Given the description of an element on the screen output the (x, y) to click on. 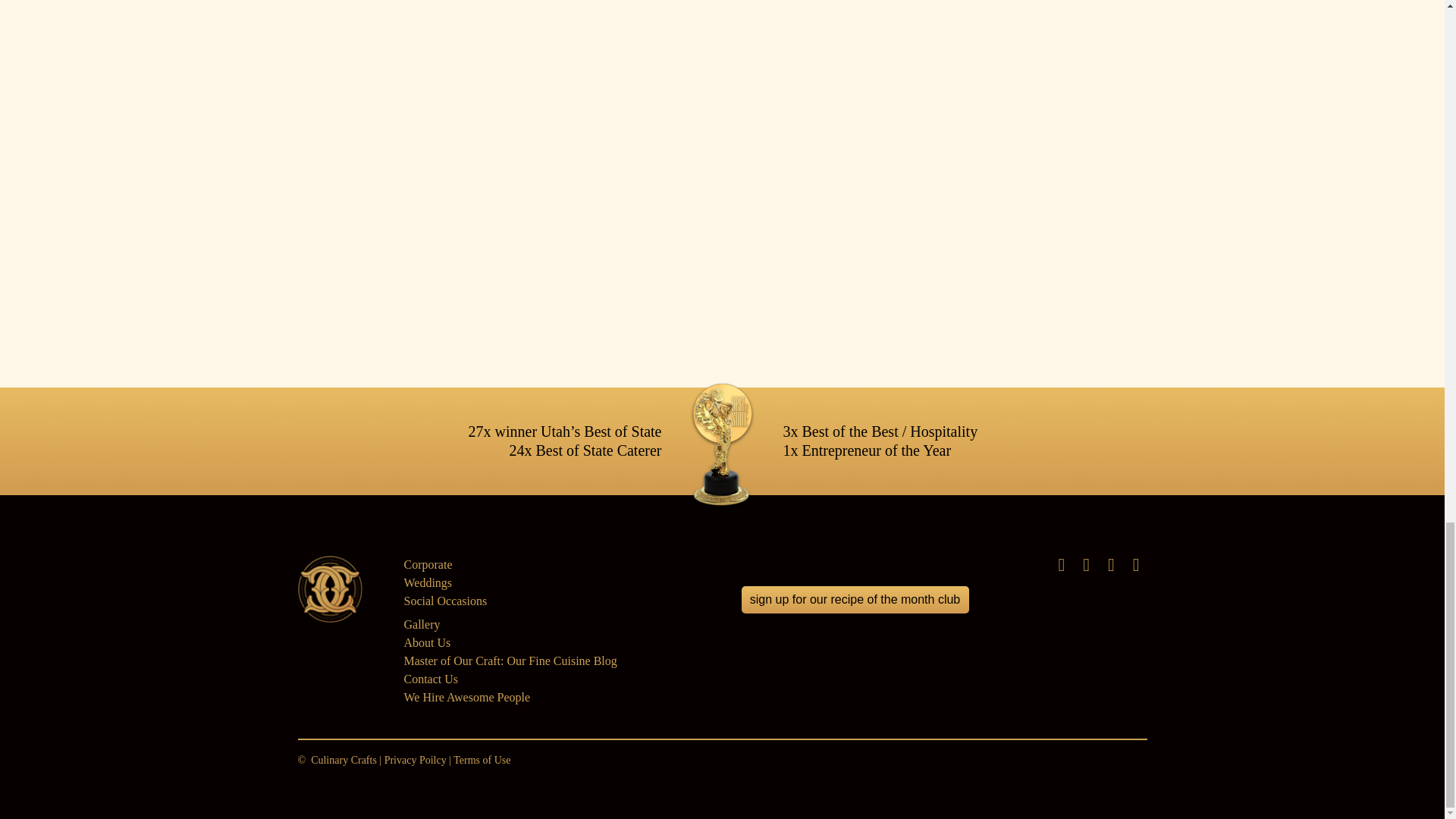
Weddings (427, 582)
Social Occasions (444, 600)
Corporate (427, 563)
